Given the description of an element on the screen output the (x, y) to click on. 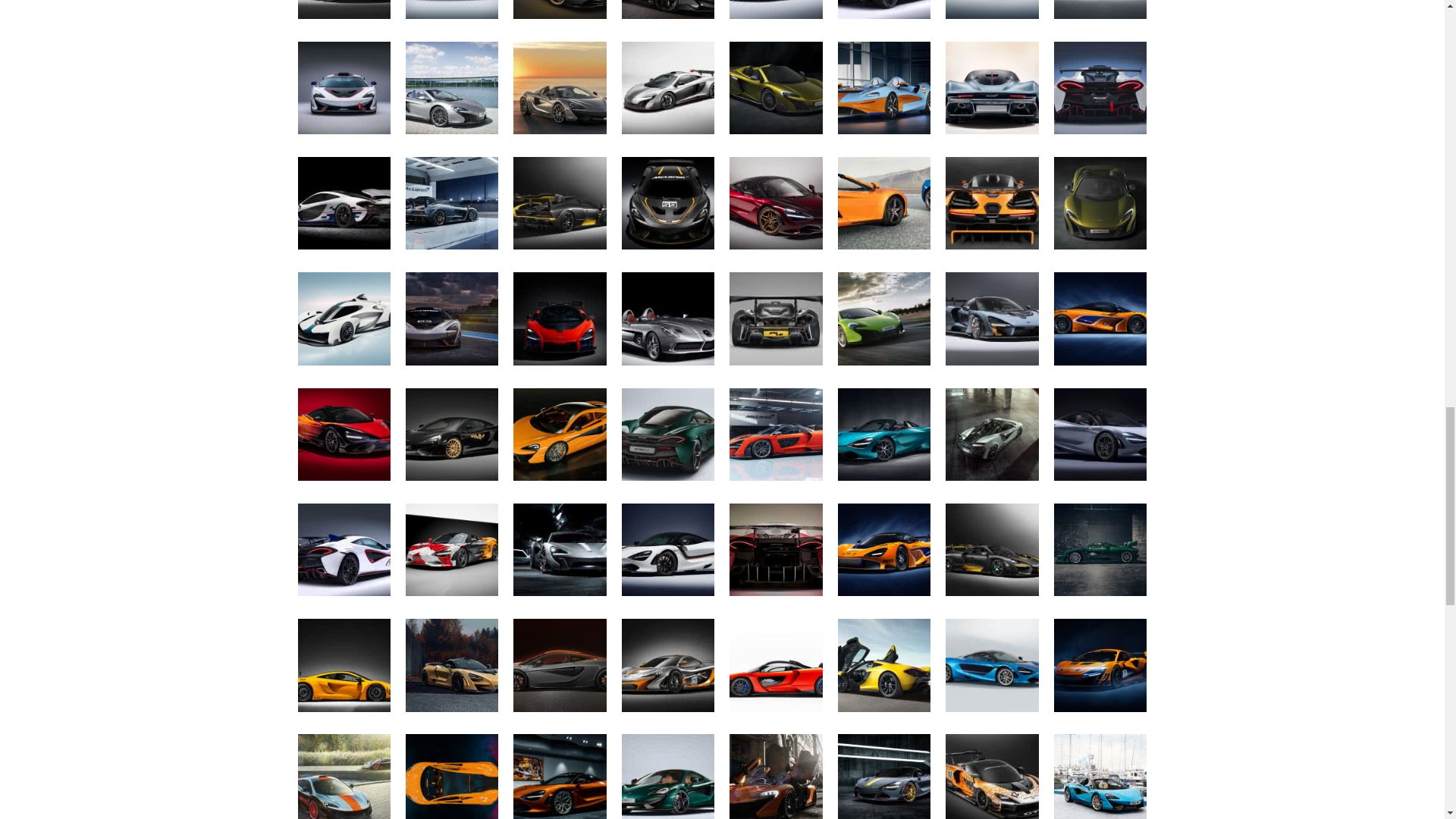
McLaren MSO R Coupe (667, 91)
McLaren 570S MSO X Black (991, 12)
McLaren 570S GT4 MSO X White Front (343, 91)
McLaren Speedtail Rear (991, 91)
McLaren 600LT (667, 12)
McLaren 675LT Spider (775, 91)
McLaren P1 Blue (343, 12)
Lego McLaren Senna (1100, 12)
McLaren MSO X Front (775, 12)
McLaren 570S Spider Grey (560, 91)
McLaren 570S MSO X Black Back (452, 12)
McLaren 720S MSO Black And Gold (560, 12)
McLaren 650S MSO Silver (452, 91)
McLaren 570S GT4 MSO X White Rear (884, 12)
McLaren Elva Gulf Theme MSO (884, 91)
